Given the description of an element on the screen output the (x, y) to click on. 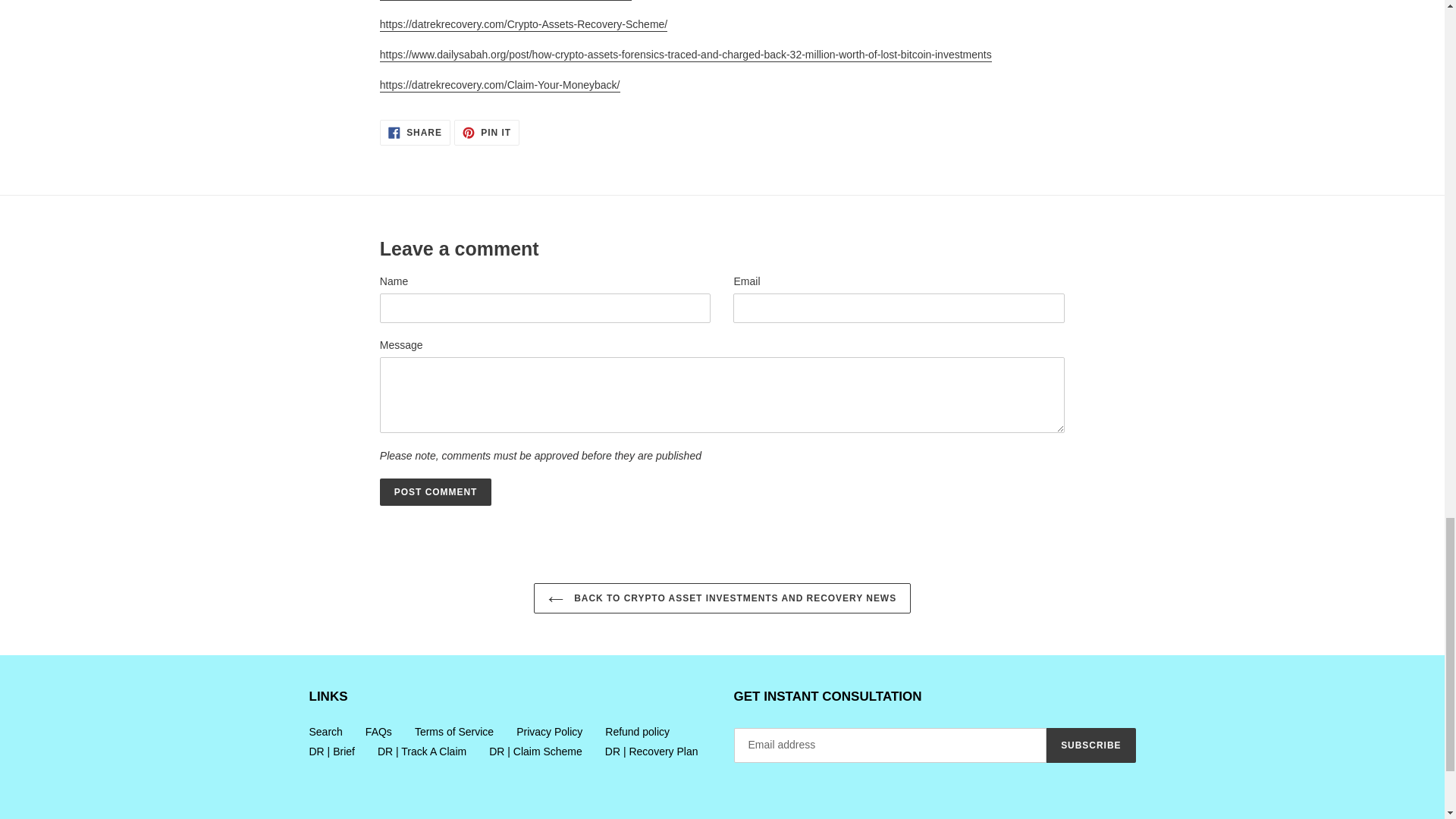
Post comment (436, 492)
Terms of Service (453, 731)
Post comment (486, 132)
FAQs (436, 492)
Search (378, 731)
BACK TO CRYPTO ASSET INVESTMENTS AND RECOVERY NEWS (325, 731)
Privacy Policy (414, 132)
Refund policy (722, 598)
